Given the description of an element on the screen output the (x, y) to click on. 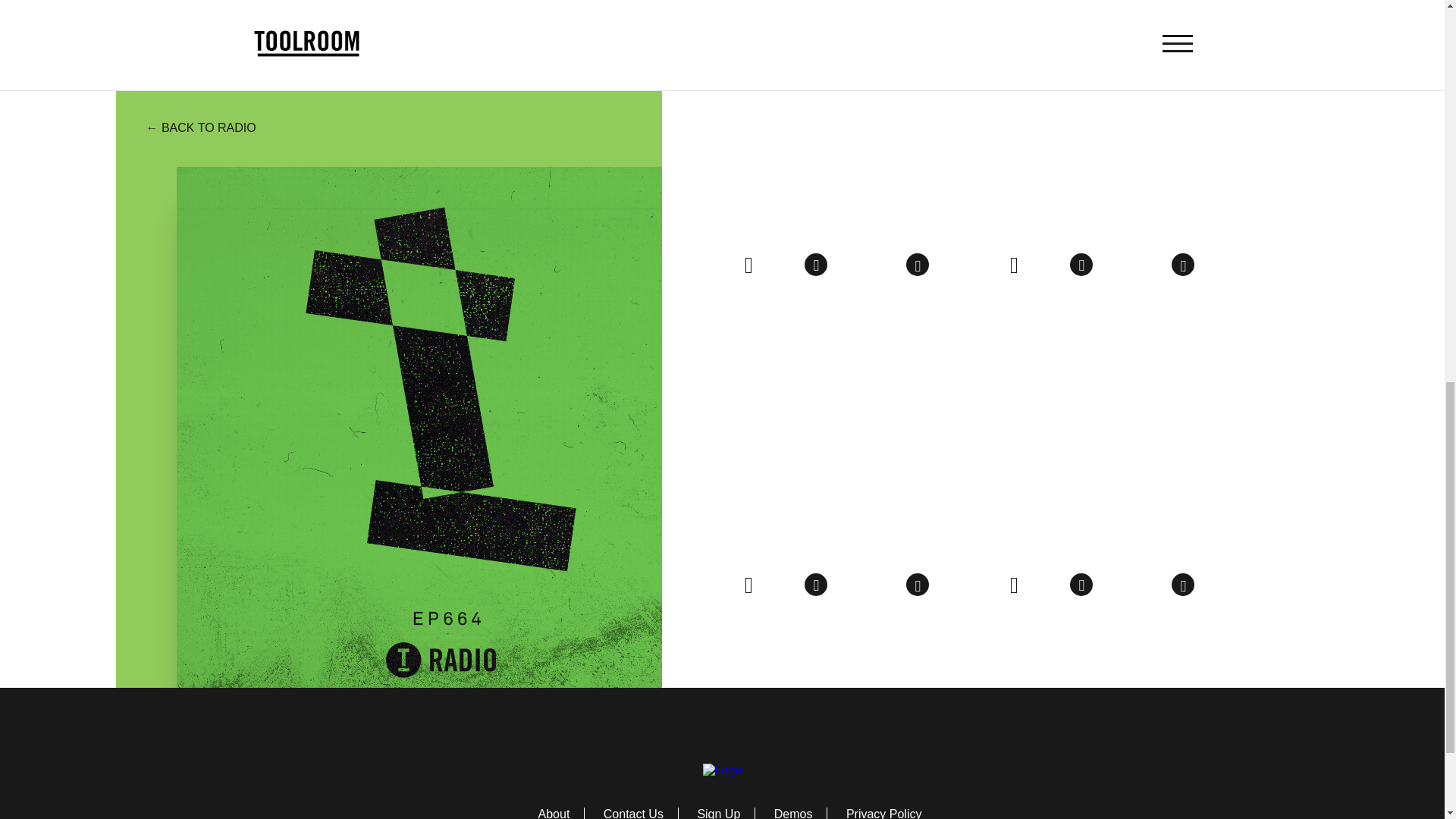
soundcloud (849, 266)
Listen on spotify (1014, 263)
spotify (748, 263)
Listen on spotify (748, 263)
Listen on soundcloud (849, 266)
Listen on deezer (782, 266)
Listen on deezer (1047, 266)
amazonMusic (916, 264)
Listen on appleMusic (816, 264)
Listen on amazonMusic (916, 264)
